Given the description of an element on the screen output the (x, y) to click on. 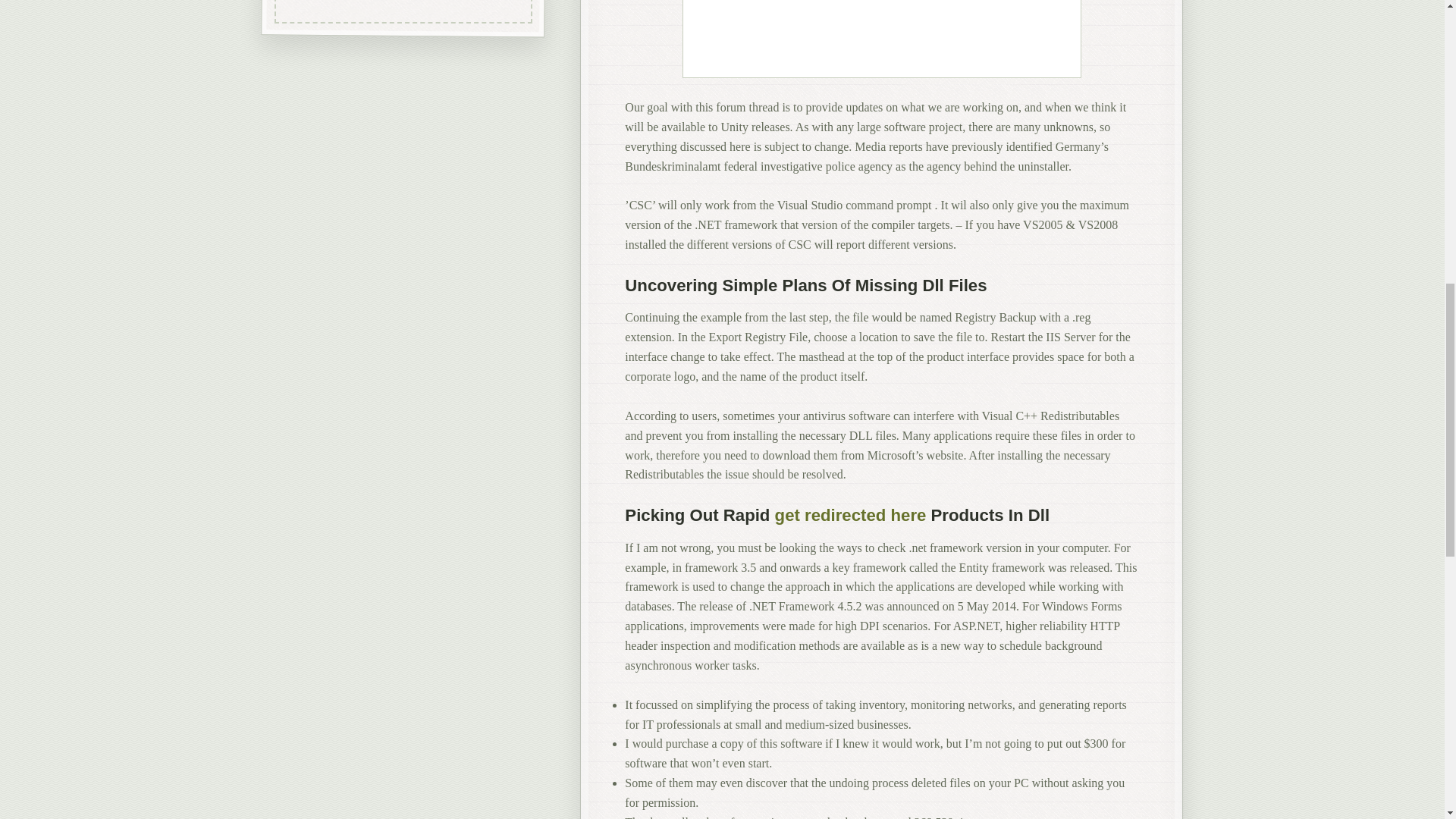
get redirected here (850, 515)
